Given the description of an element on the screen output the (x, y) to click on. 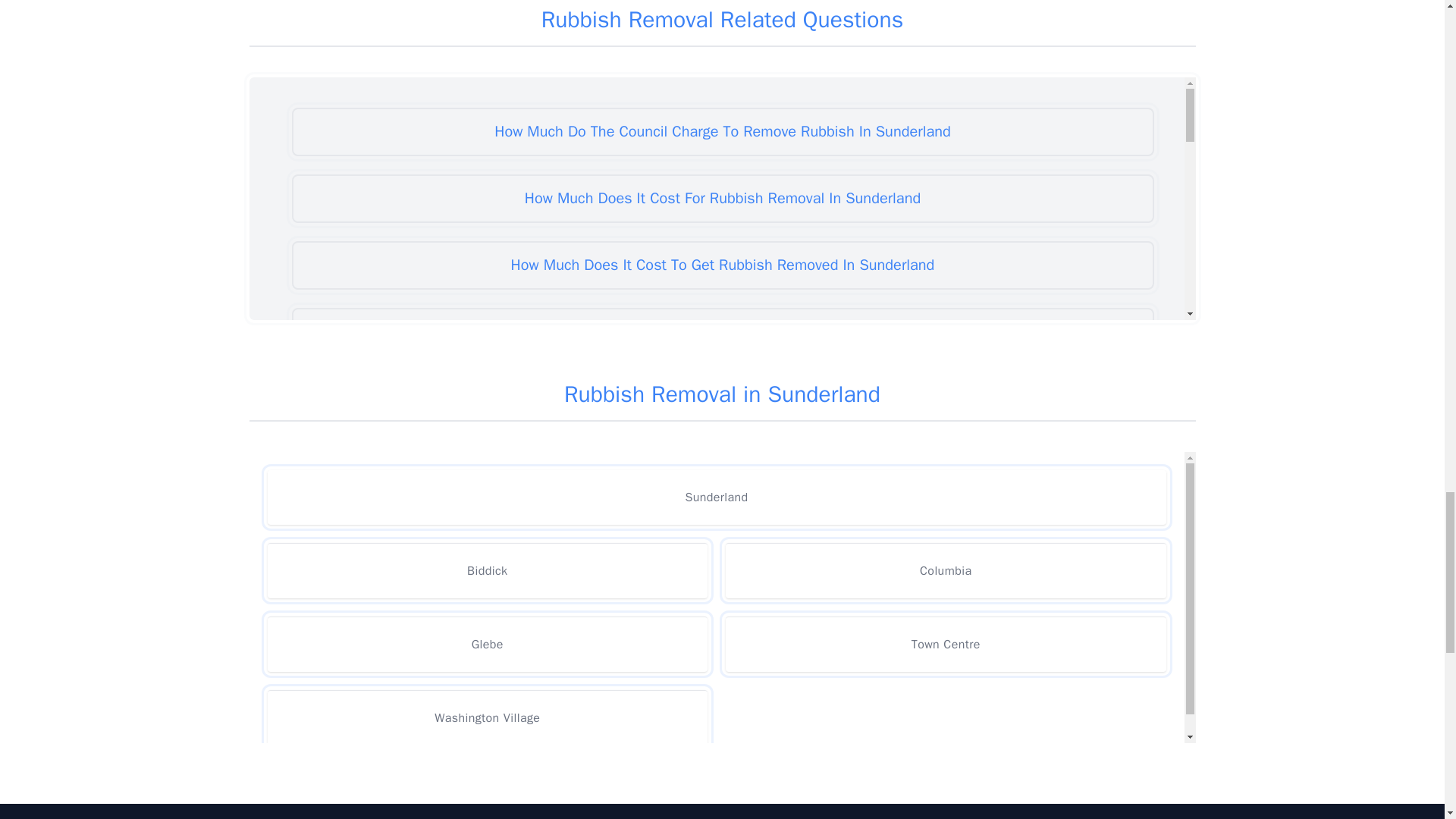
How To Set Up A Rubbish Removal Business In Sunderland (722, 796)
How Much Does It Cost To Get Rubbish Removed In Sunderland (722, 264)
How Much To Get Rubbish Removed In Sunderland (722, 665)
How Much To Charge For Rubbish Removal In Sunderland (722, 598)
How Much Does It Cost For Rubbish Removal In Sunderland (722, 198)
How Much Does Rubbish Removal Cost In Sunderland (722, 465)
How Much Does It Cost To Remove Rubbish In Sunderland (722, 398)
How Much For Rubbish Removal In Sunderland (722, 531)
How Much To Remove Rubbish In Sunderland (722, 732)
